Given the description of an element on the screen output the (x, y) to click on. 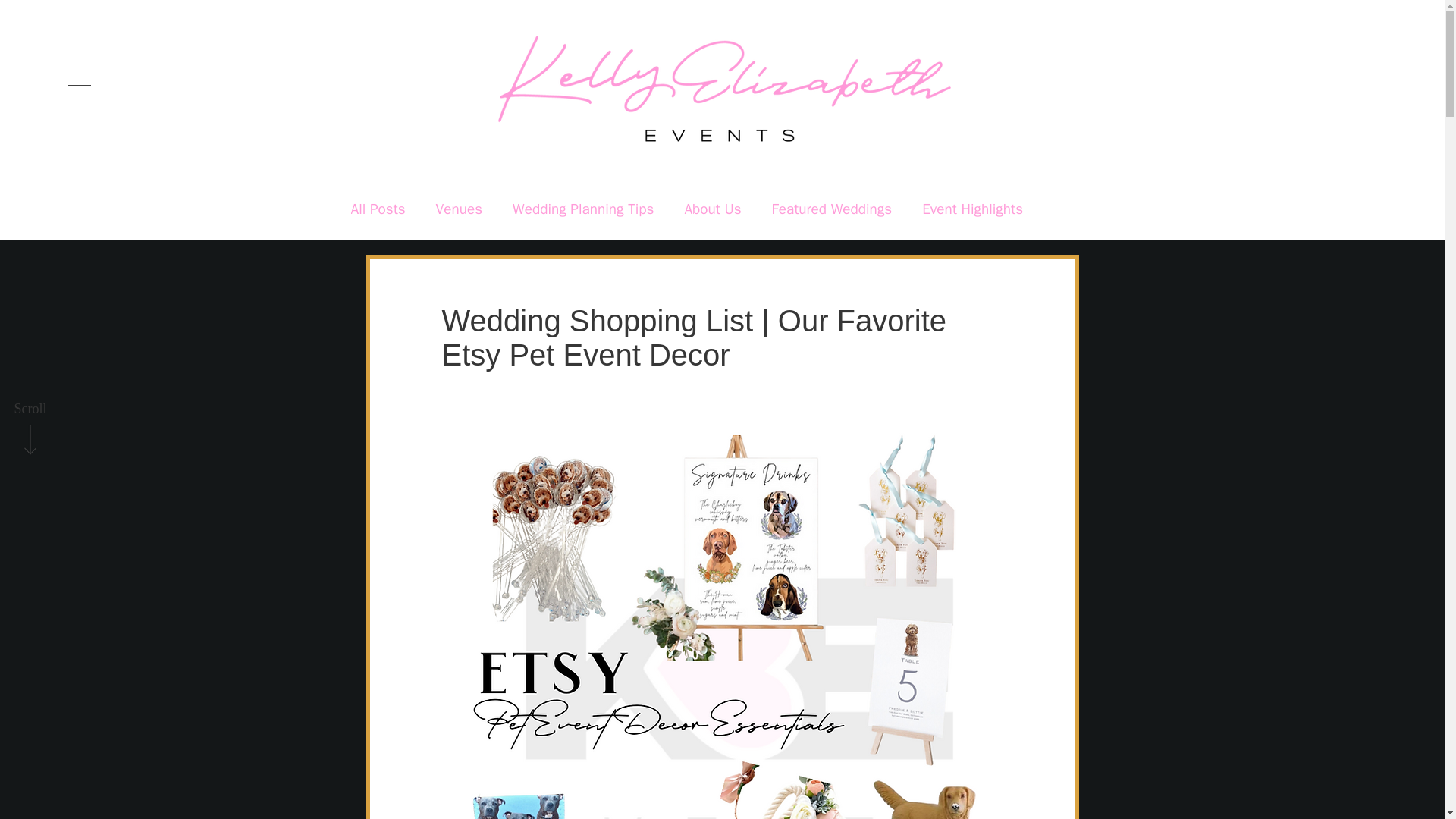
About Us (712, 209)
Event Highlights (972, 209)
All Posts (377, 209)
Venues (458, 209)
Featured Weddings (831, 209)
Scroll (29, 409)
Wedding Planning Tips (582, 209)
